Given the description of an element on the screen output the (x, y) to click on. 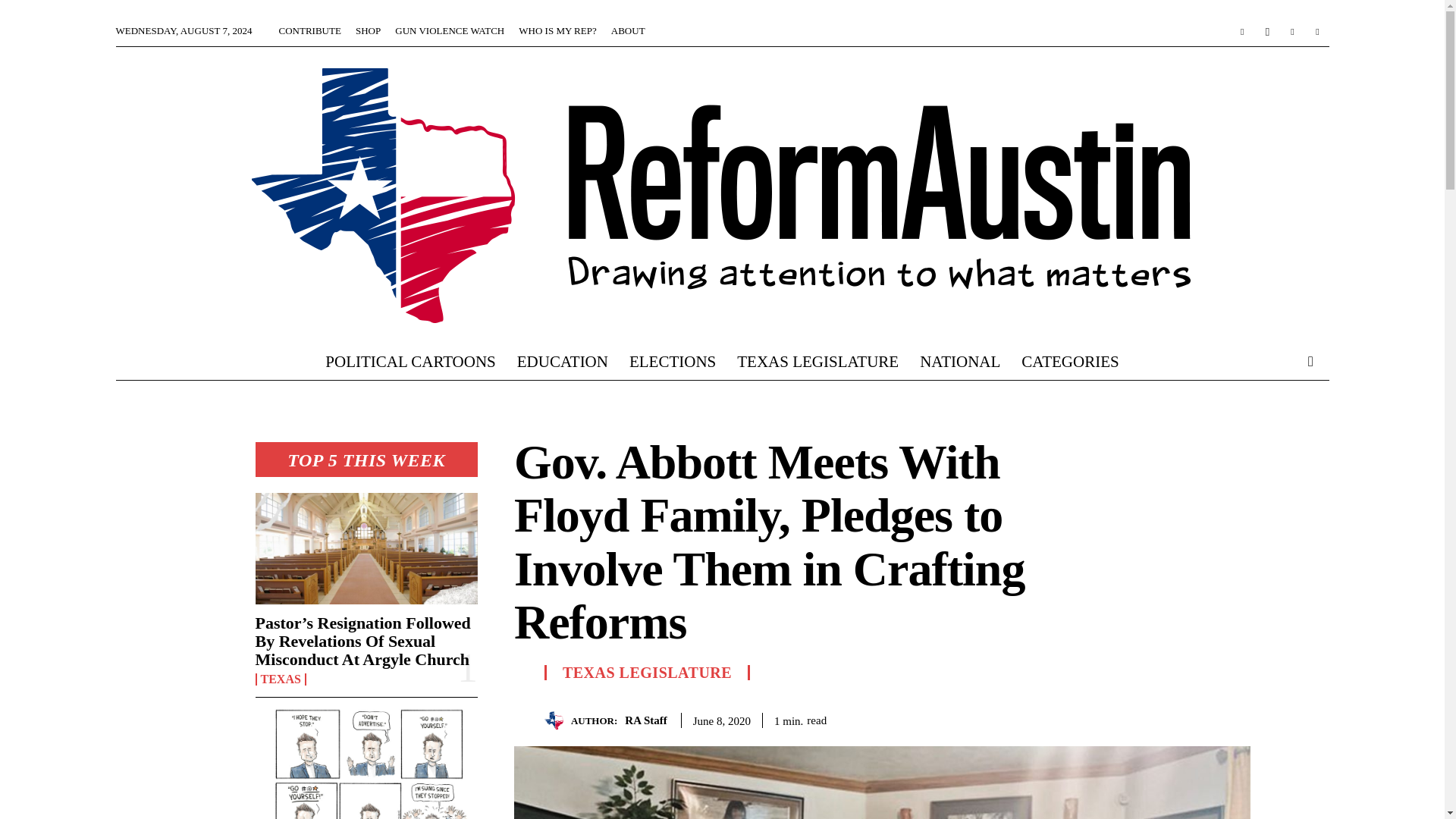
CONTRIBUTE (309, 30)
ABOUT (628, 30)
GUN VIOLENCE WATCH (448, 30)
Elon (365, 764)
WHO IS MY REP? (556, 30)
SHOP (367, 30)
